Given the description of an element on the screen output the (x, y) to click on. 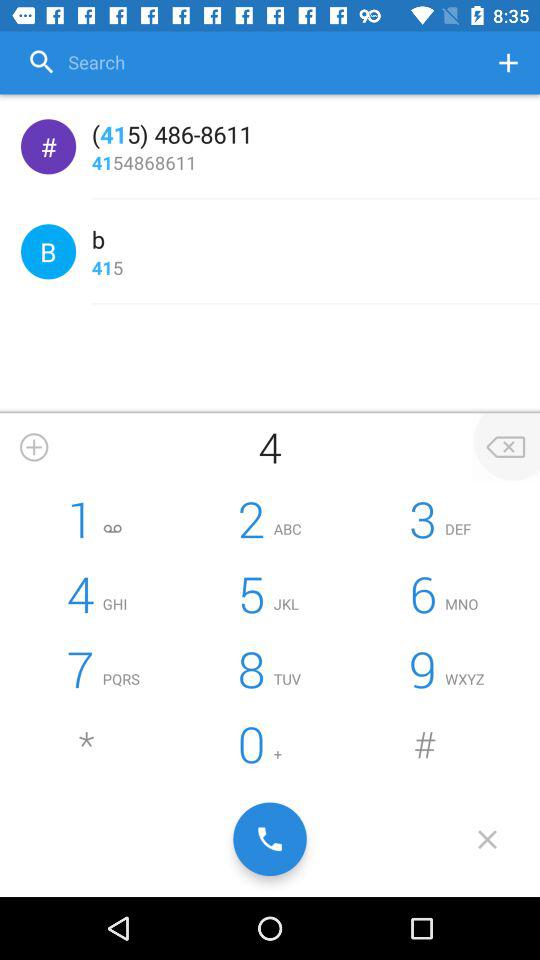
call the phone (269, 839)
